Given the description of an element on the screen output the (x, y) to click on. 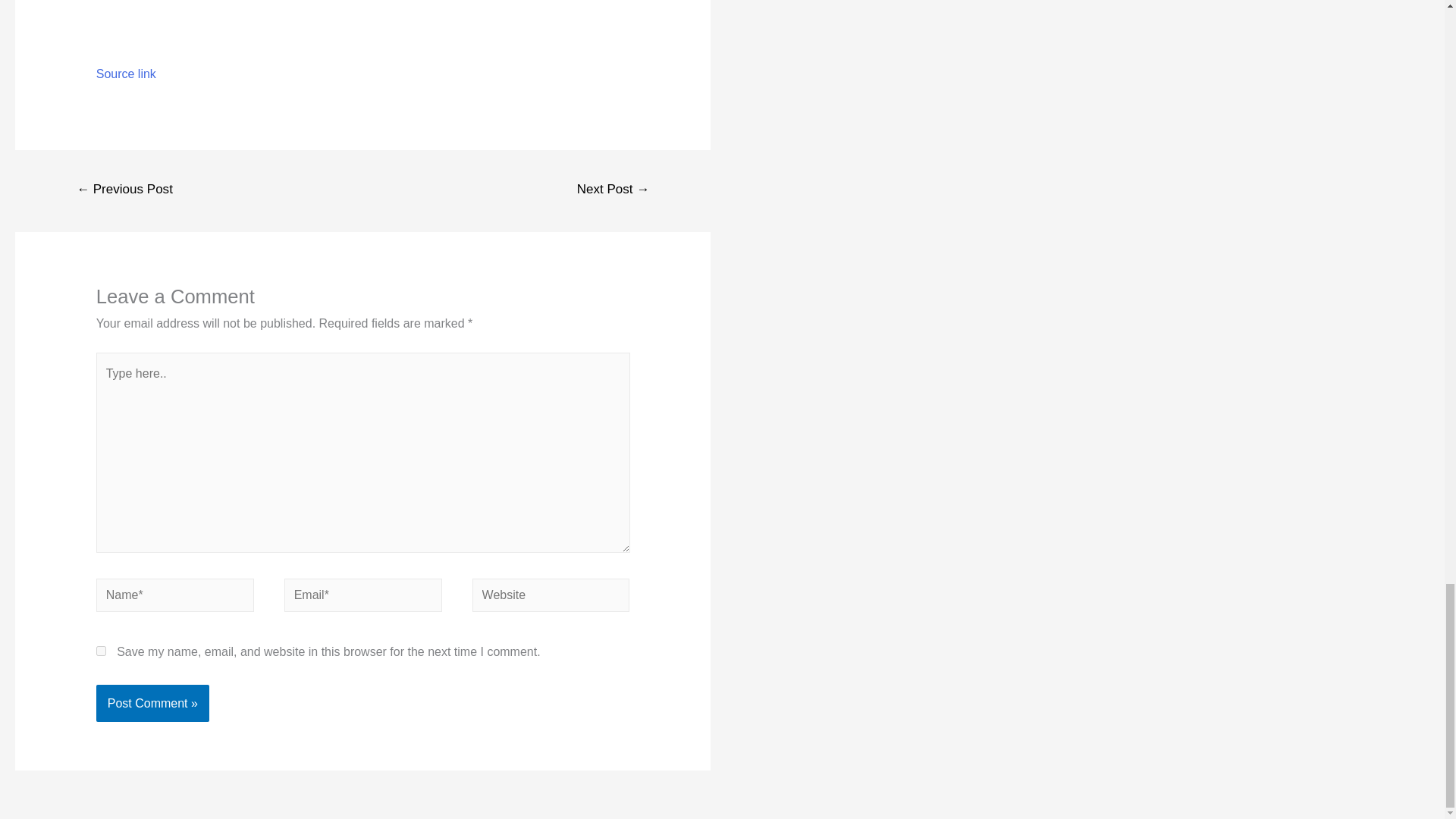
yes (101, 651)
